Given the description of an element on the screen output the (x, y) to click on. 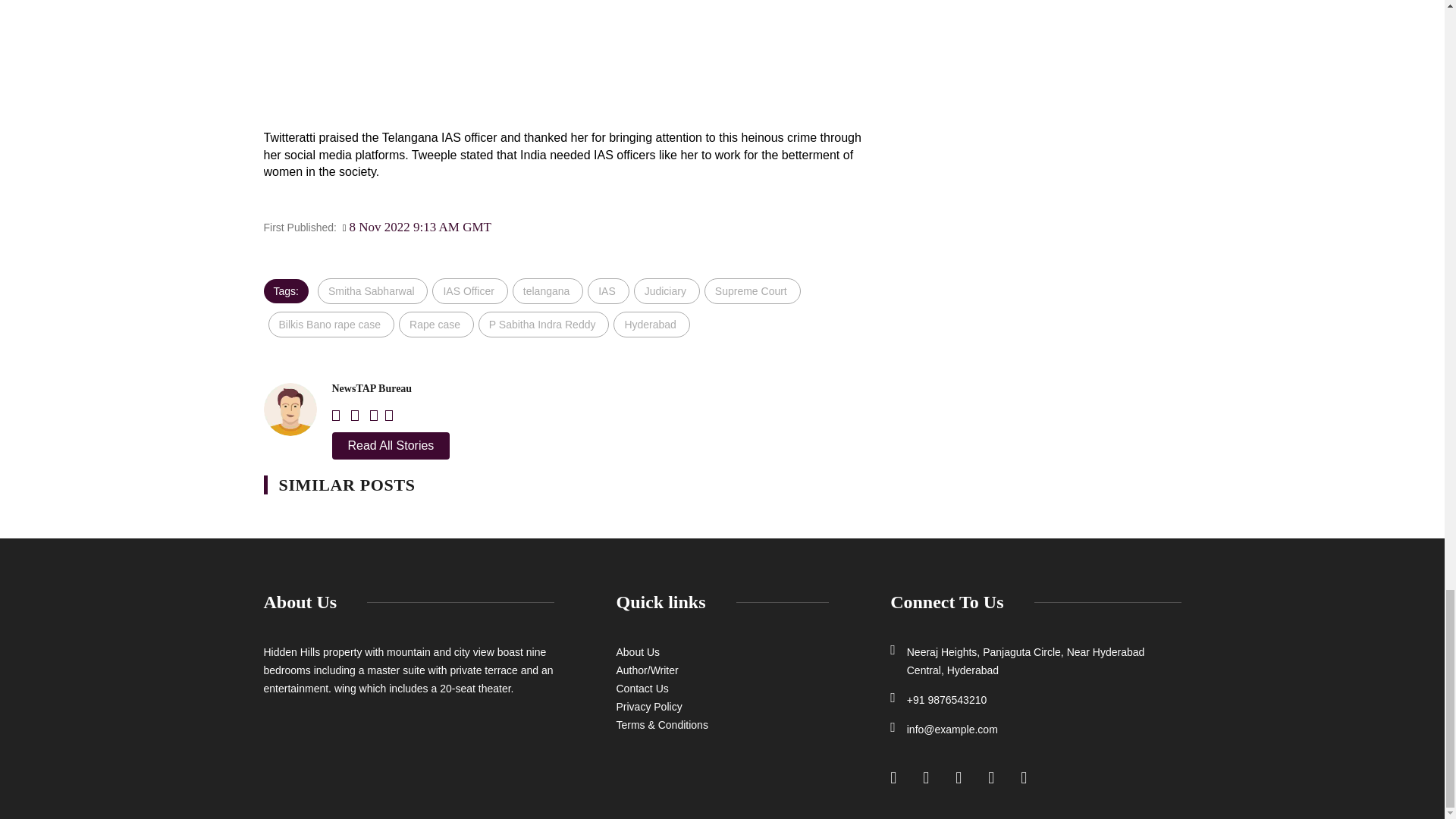
Twitter Tweet (565, 58)
